Given the description of an element on the screen output the (x, y) to click on. 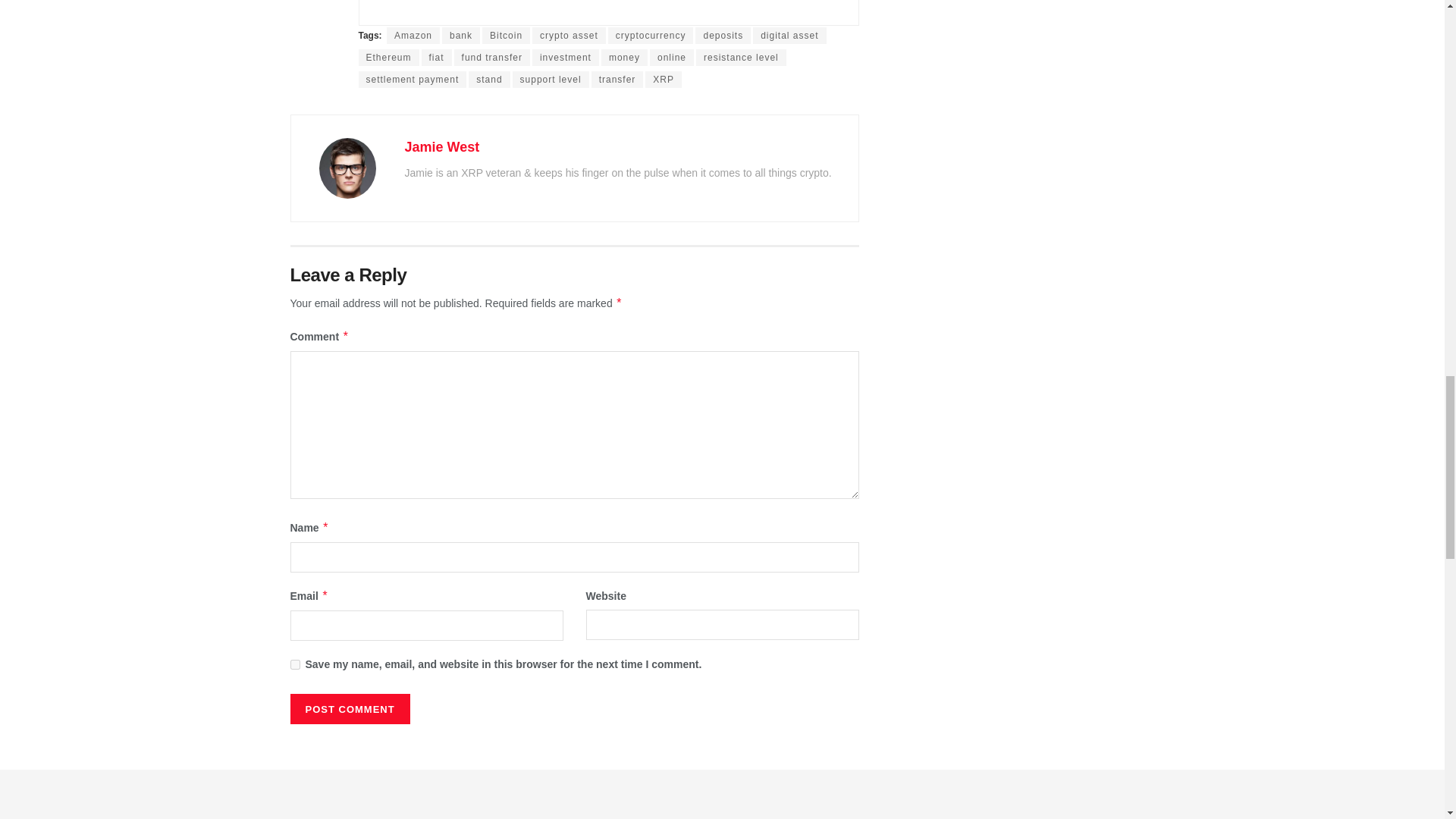
Amazon (413, 35)
Bitcoin (505, 35)
fund transfer (491, 57)
Ethereum (388, 57)
cryptocurrency (651, 35)
digital asset (788, 35)
bank (461, 35)
fiat (436, 57)
deposits (723, 35)
yes (294, 664)
